Given the description of an element on the screen output the (x, y) to click on. 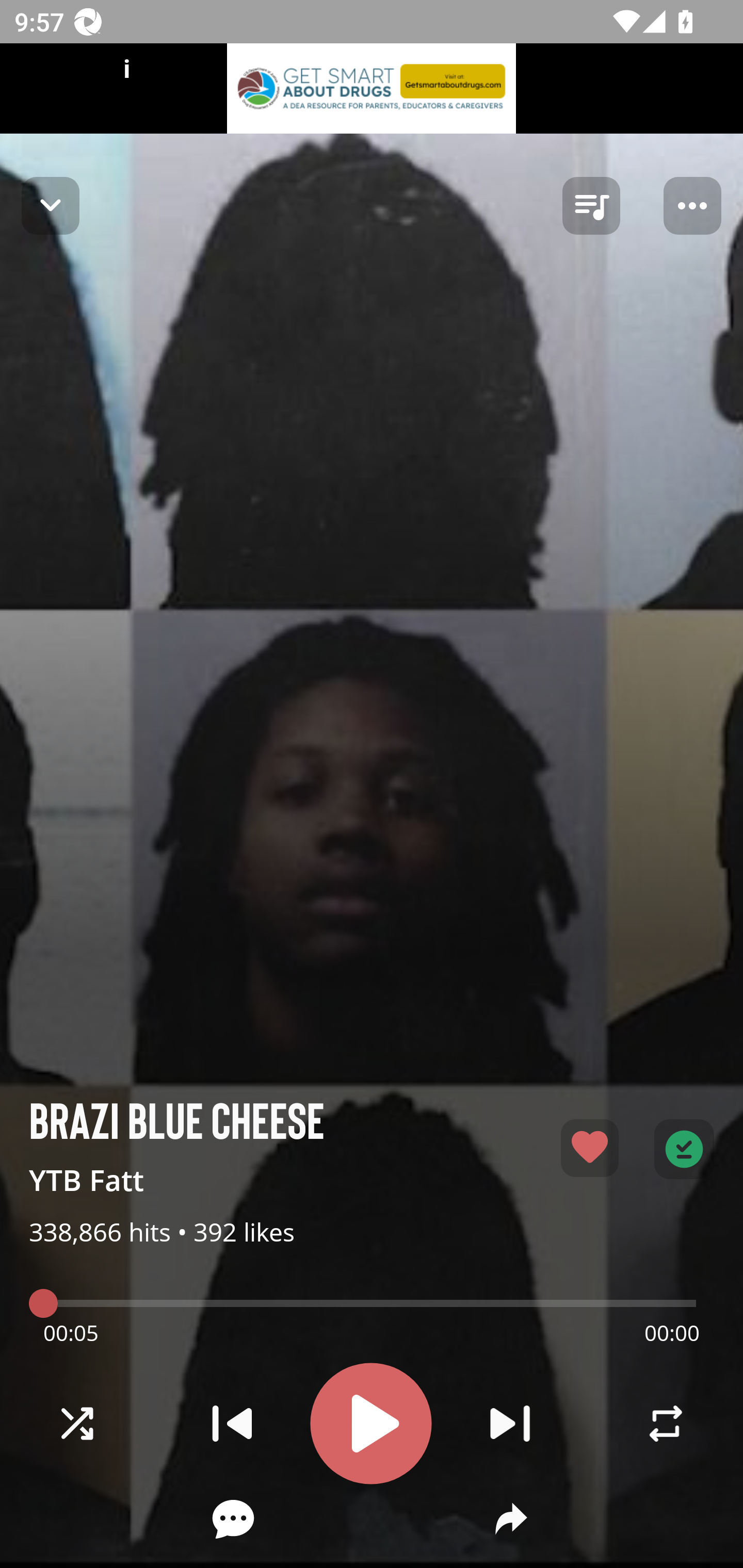
Navigate up (50, 205)
queue (590, 206)
Player options (692, 206)
